Given the description of an element on the screen output the (x, y) to click on. 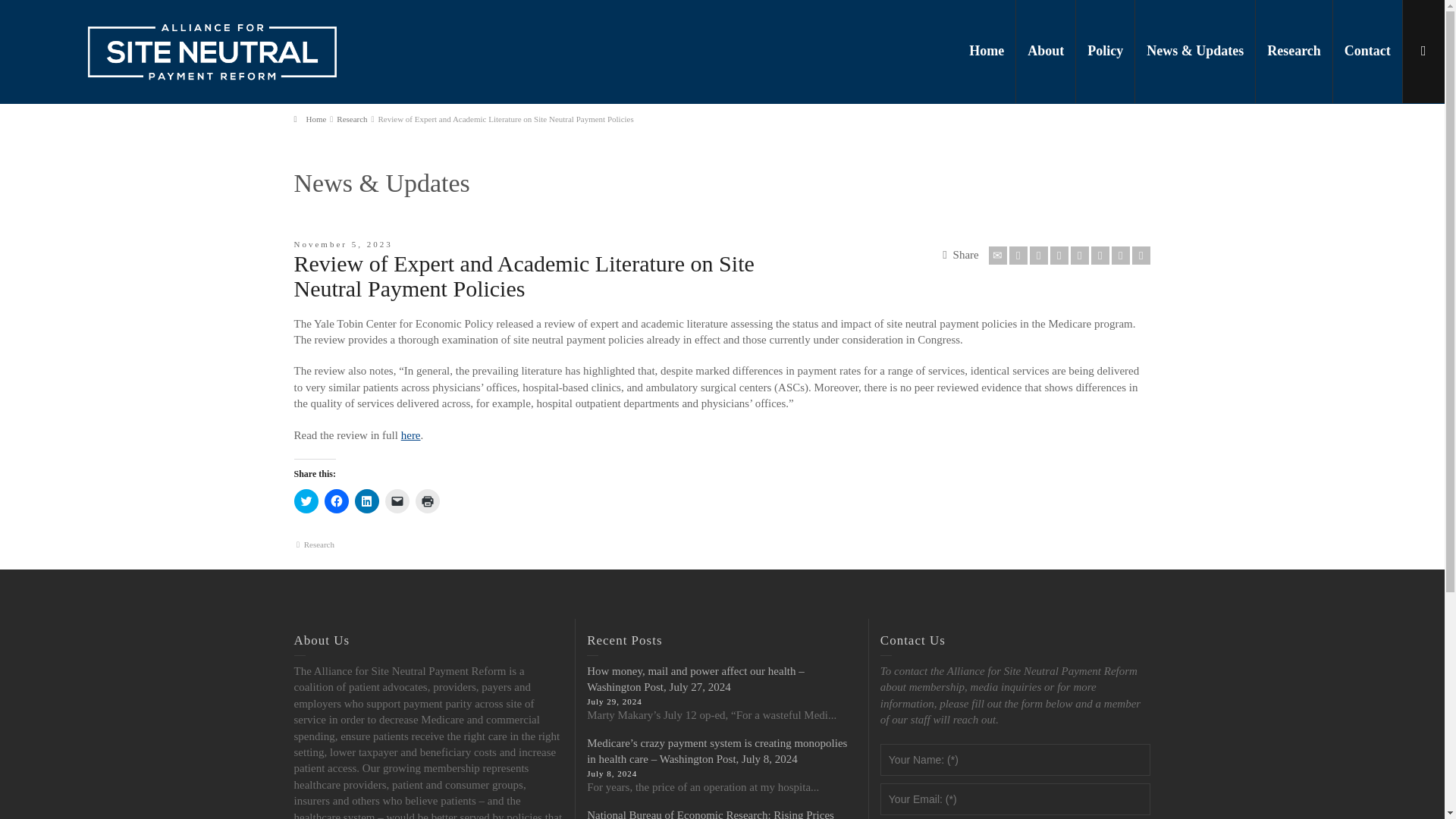
Facebook (1038, 255)
Home (310, 117)
Research (319, 543)
Click to share on Twitter (306, 500)
Research (351, 117)
Vkontakte (1141, 255)
Alliance for Site Neutral Payment Reform (212, 50)
Linkedin (1120, 255)
Pinterest (1079, 255)
Email (997, 255)
here (410, 435)
Tumblr (1099, 255)
Twitter (1018, 255)
